Given the description of an element on the screen output the (x, y) to click on. 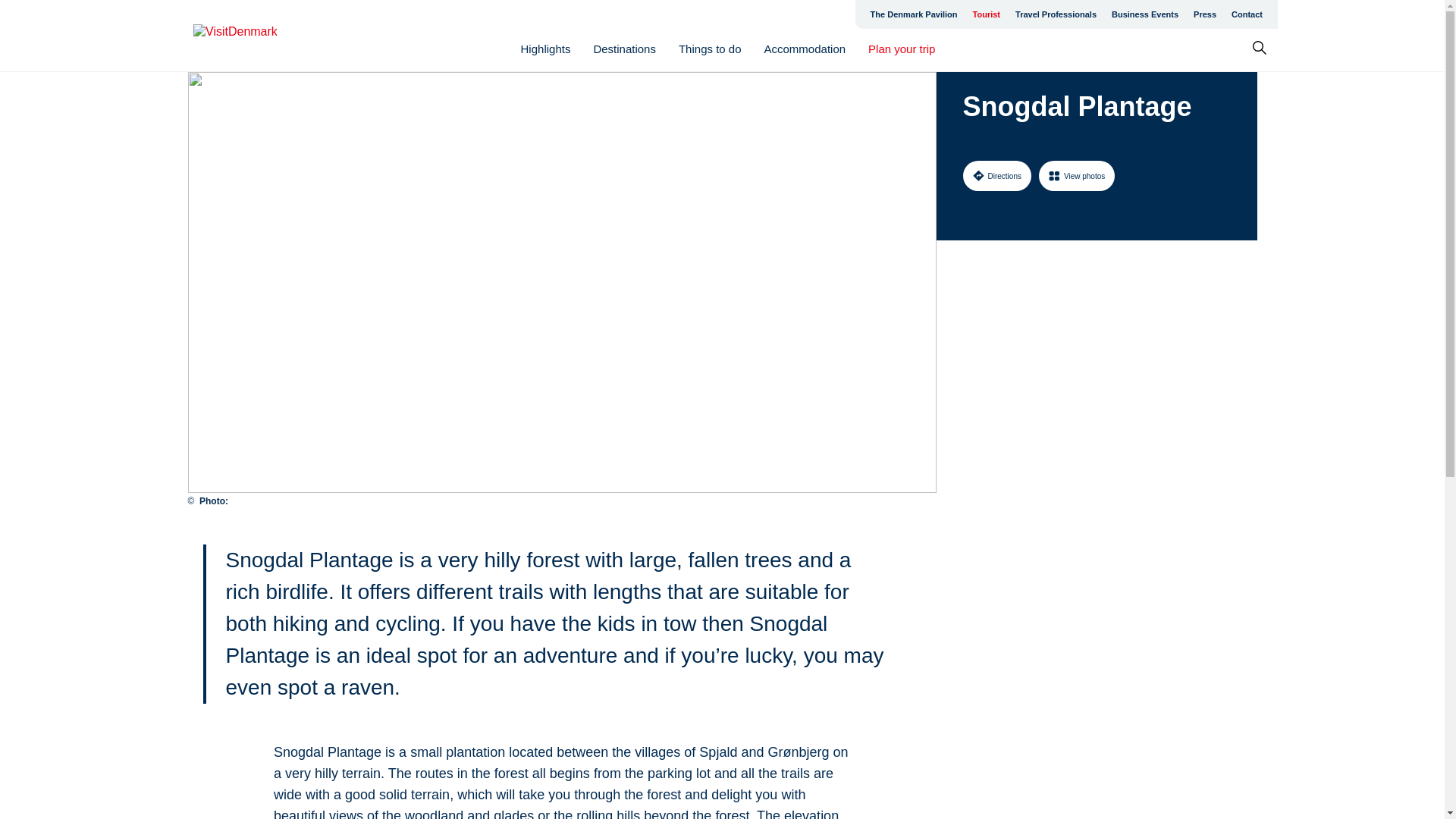
The Denmark Pavilion (914, 14)
Things to do (709, 48)
Go to homepage (253, 35)
Contact (1246, 14)
Tourist (986, 14)
Directions (996, 175)
Plan your trip (900, 48)
Accommodation (804, 48)
Business Events (1144, 14)
Destinations (624, 48)
